Given the description of an element on the screen output the (x, y) to click on. 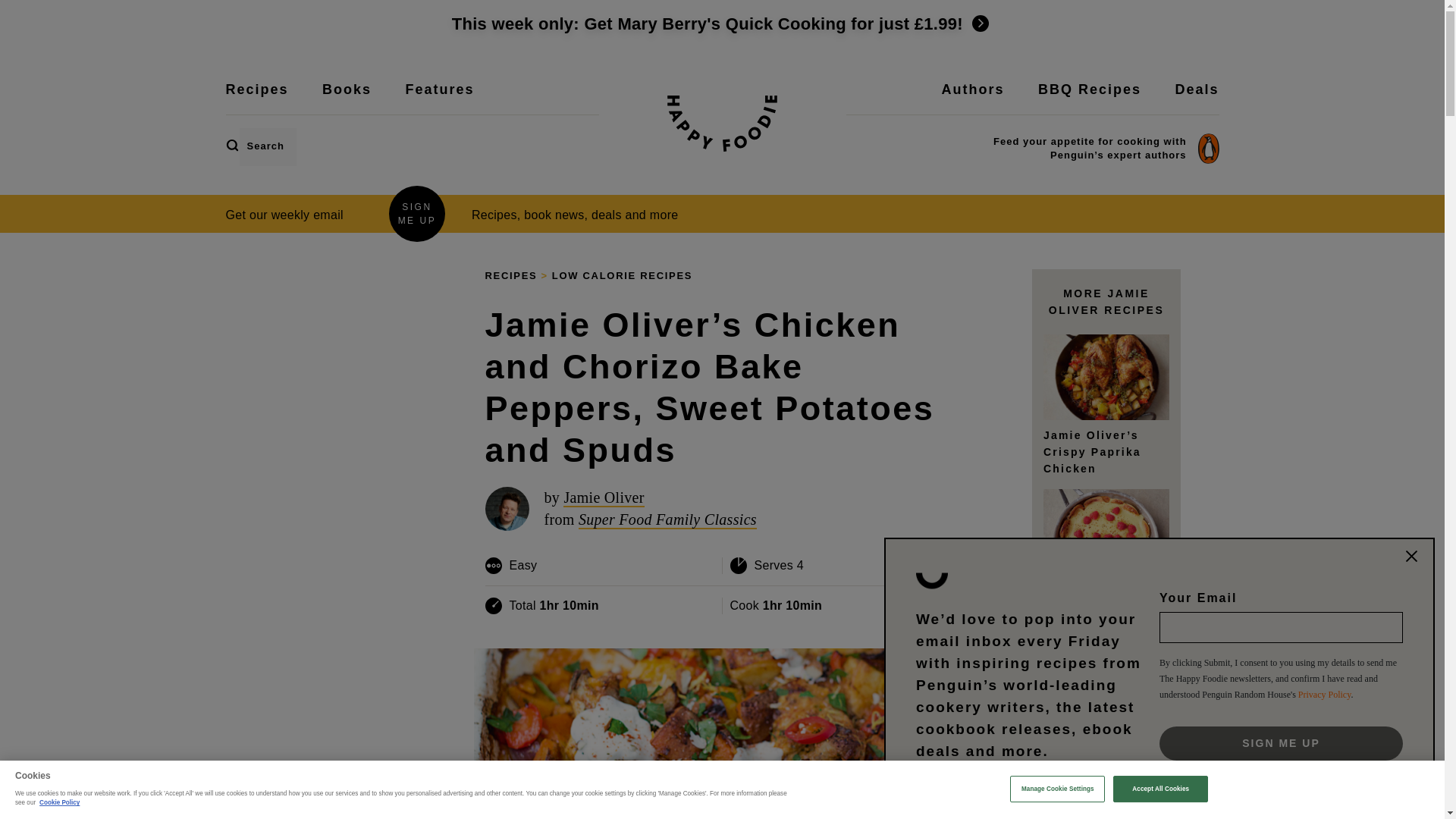
BBQ Recipes (1089, 98)
Books (346, 98)
Deals (1196, 98)
Authors (973, 98)
Recipes (256, 98)
Features (439, 98)
Sign me up (1280, 743)
